Given the description of an element on the screen output the (x, y) to click on. 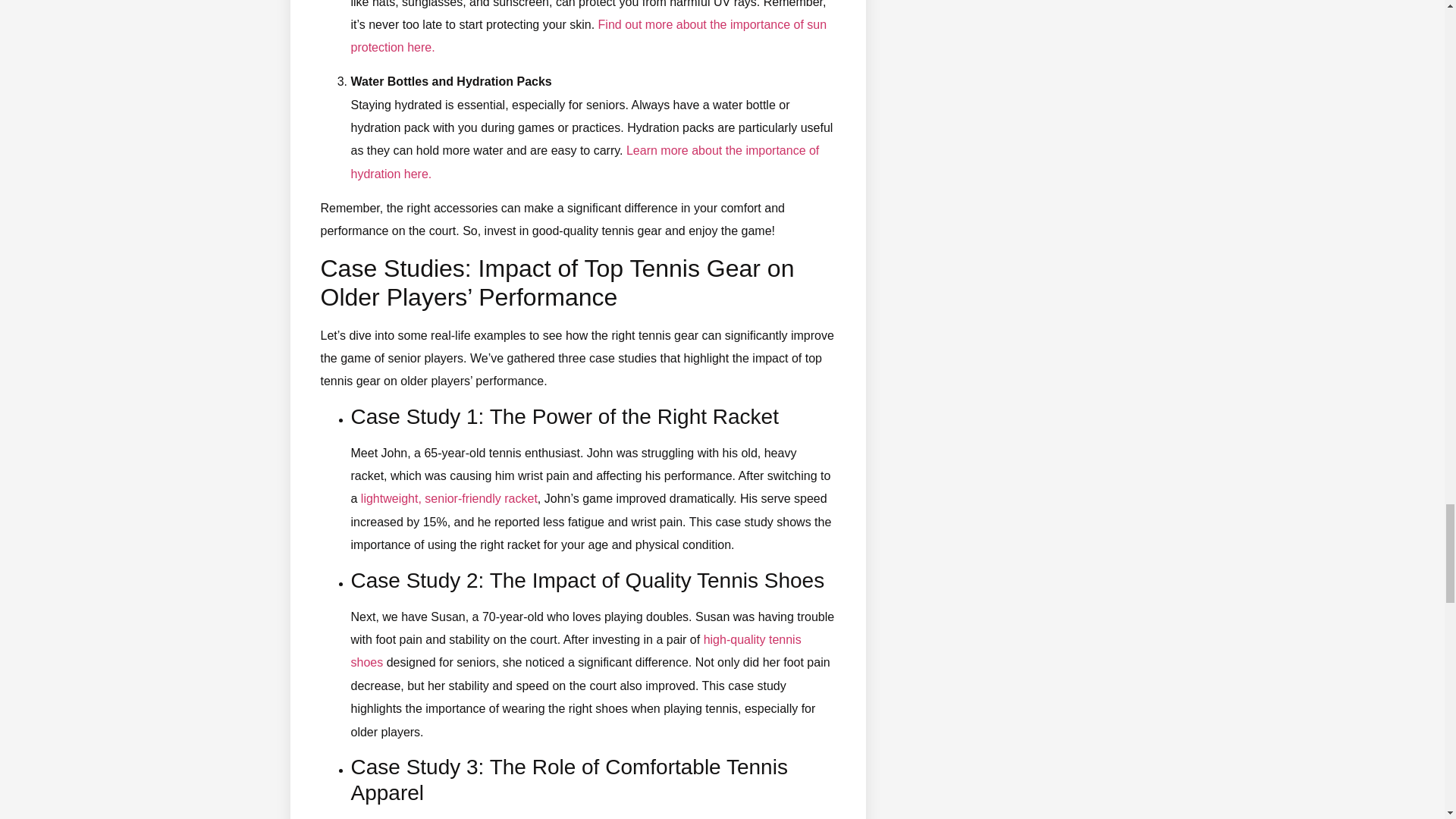
high-quality tennis shoes (575, 651)
Find out more about the importance of sun protection here. (588, 36)
Learn more about the importance of hydration here. (584, 161)
lightweight, senior-friendly racket (449, 498)
